Given the description of an element on the screen output the (x, y) to click on. 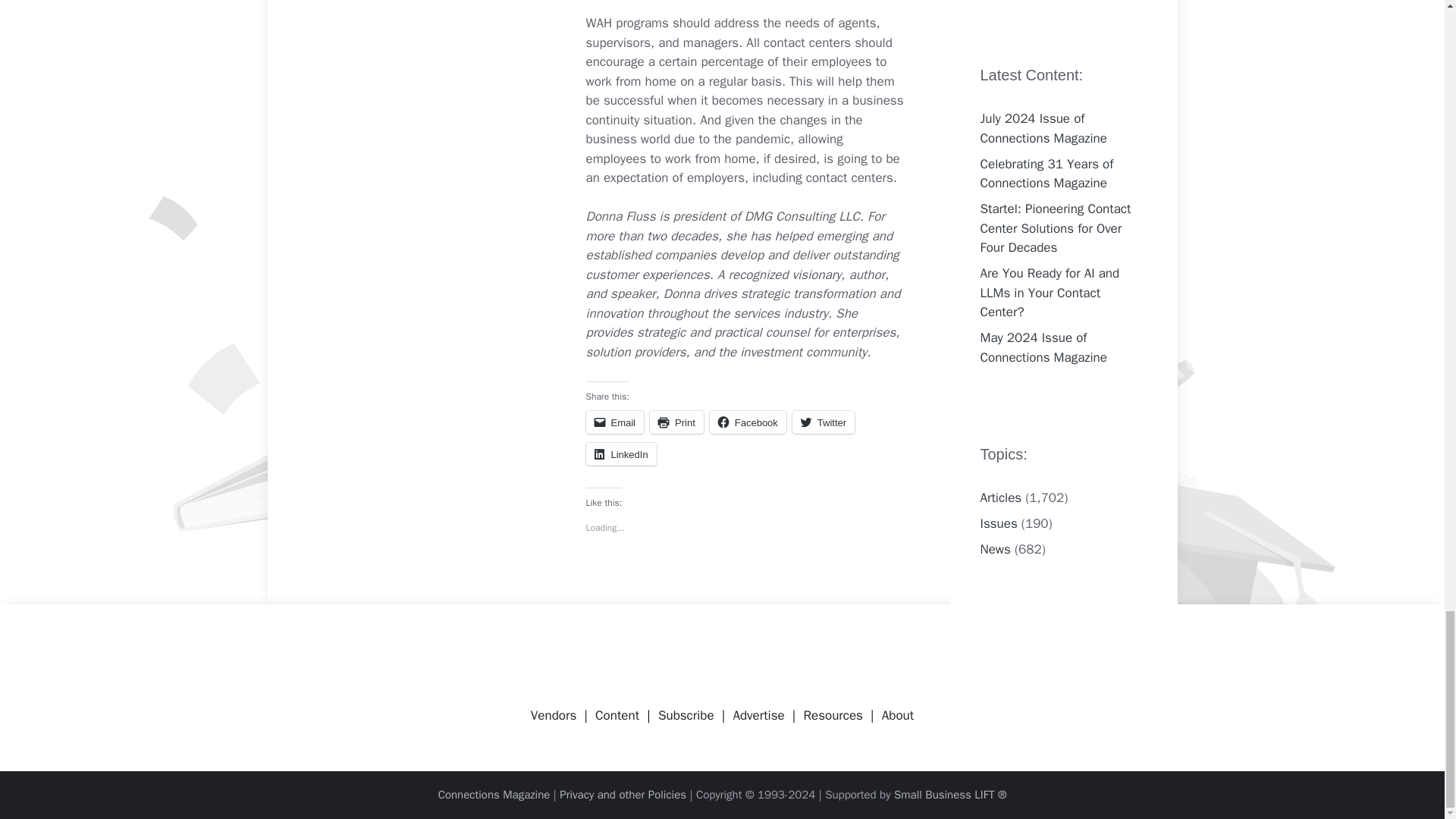
Click to share on Facebook (748, 422)
Click to email a link to a friend (614, 422)
Click to print (676, 422)
Click to share on LinkedIn (620, 454)
Click to share on Twitter (823, 422)
